Given the description of an element on the screen output the (x, y) to click on. 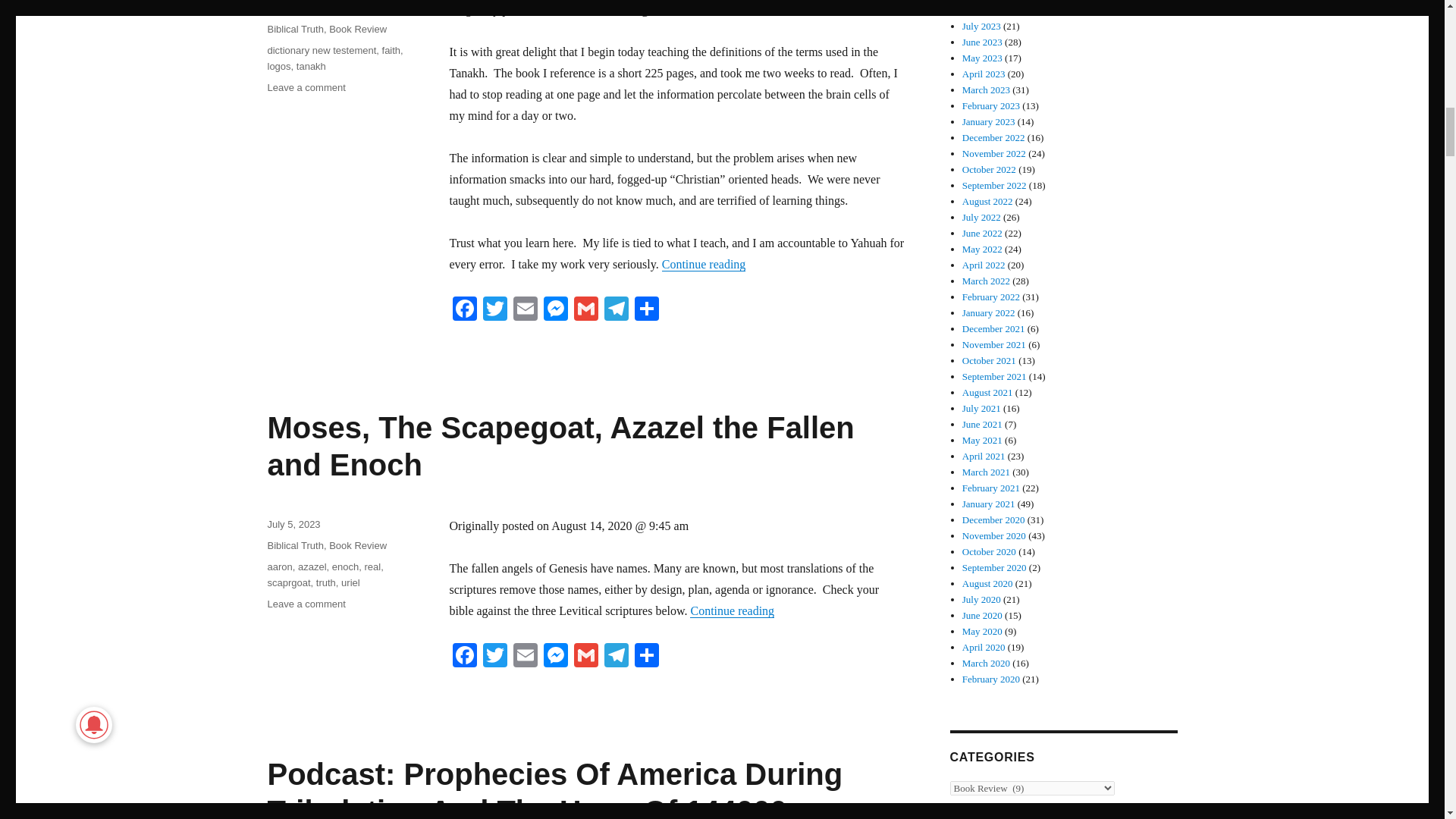
Twitter (494, 310)
Messenger (555, 310)
Email (524, 310)
Facebook (463, 310)
